Given the description of an element on the screen output the (x, y) to click on. 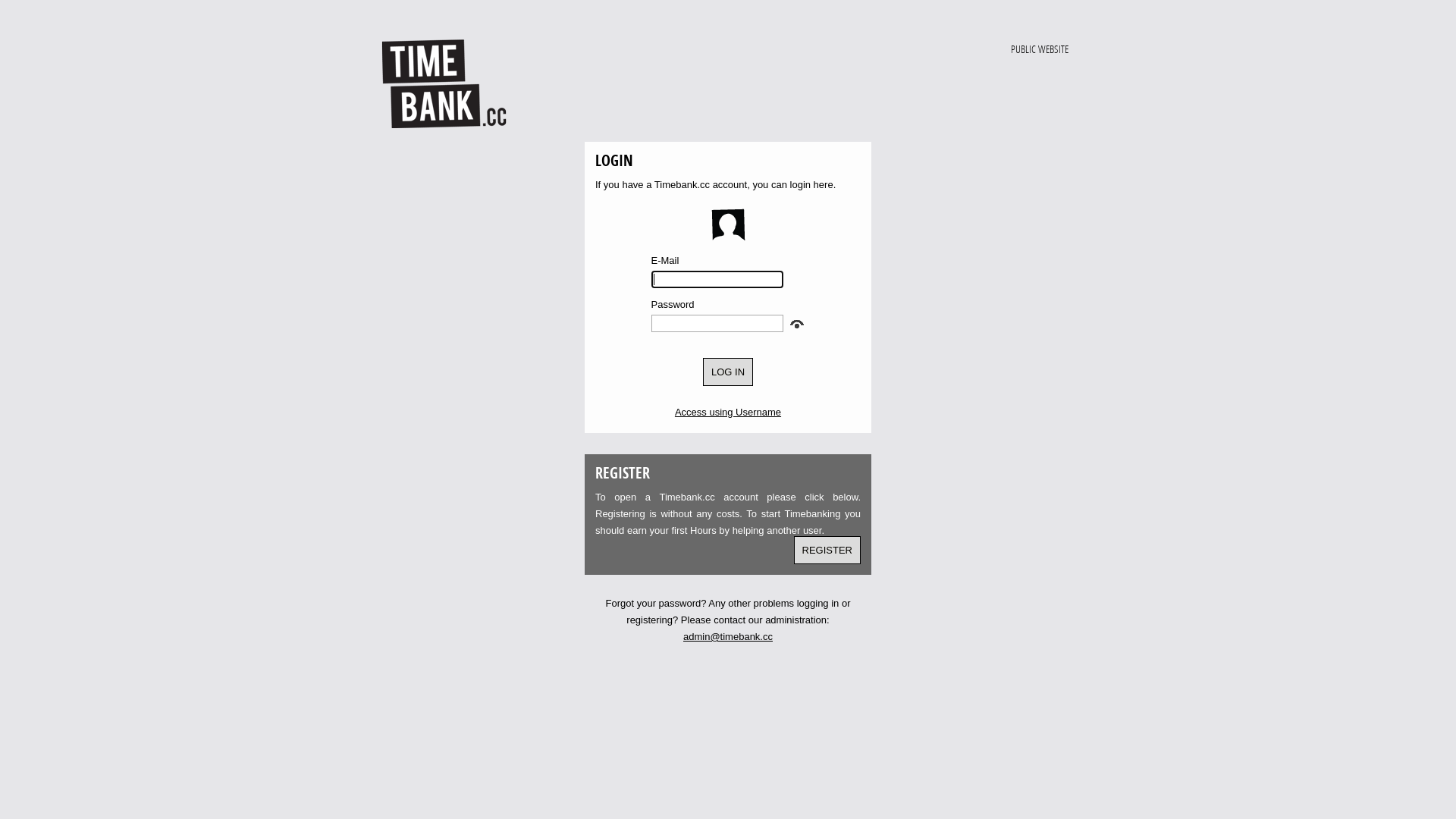
Log in Element type: text (727, 371)
Register Element type: text (826, 550)
admin@timebank.cc Element type: text (727, 636)
Access using Username Element type: text (727, 411)
PUBLIC WEBSITE Element type: text (721, 48)
